Given the description of an element on the screen output the (x, y) to click on. 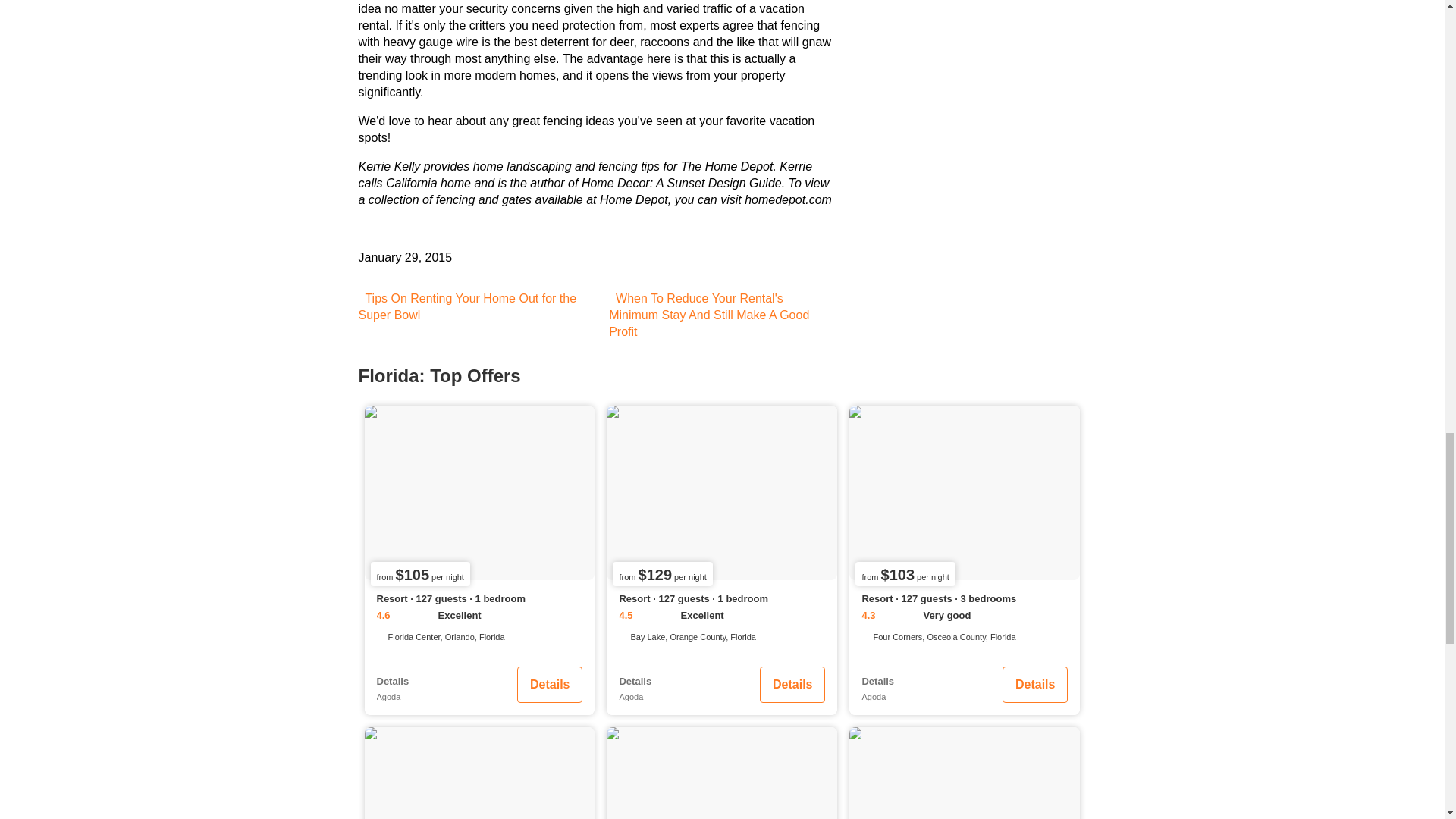
  Tips On Renting Your Home Out for the Super Bowl (467, 306)
